Given the description of an element on the screen output the (x, y) to click on. 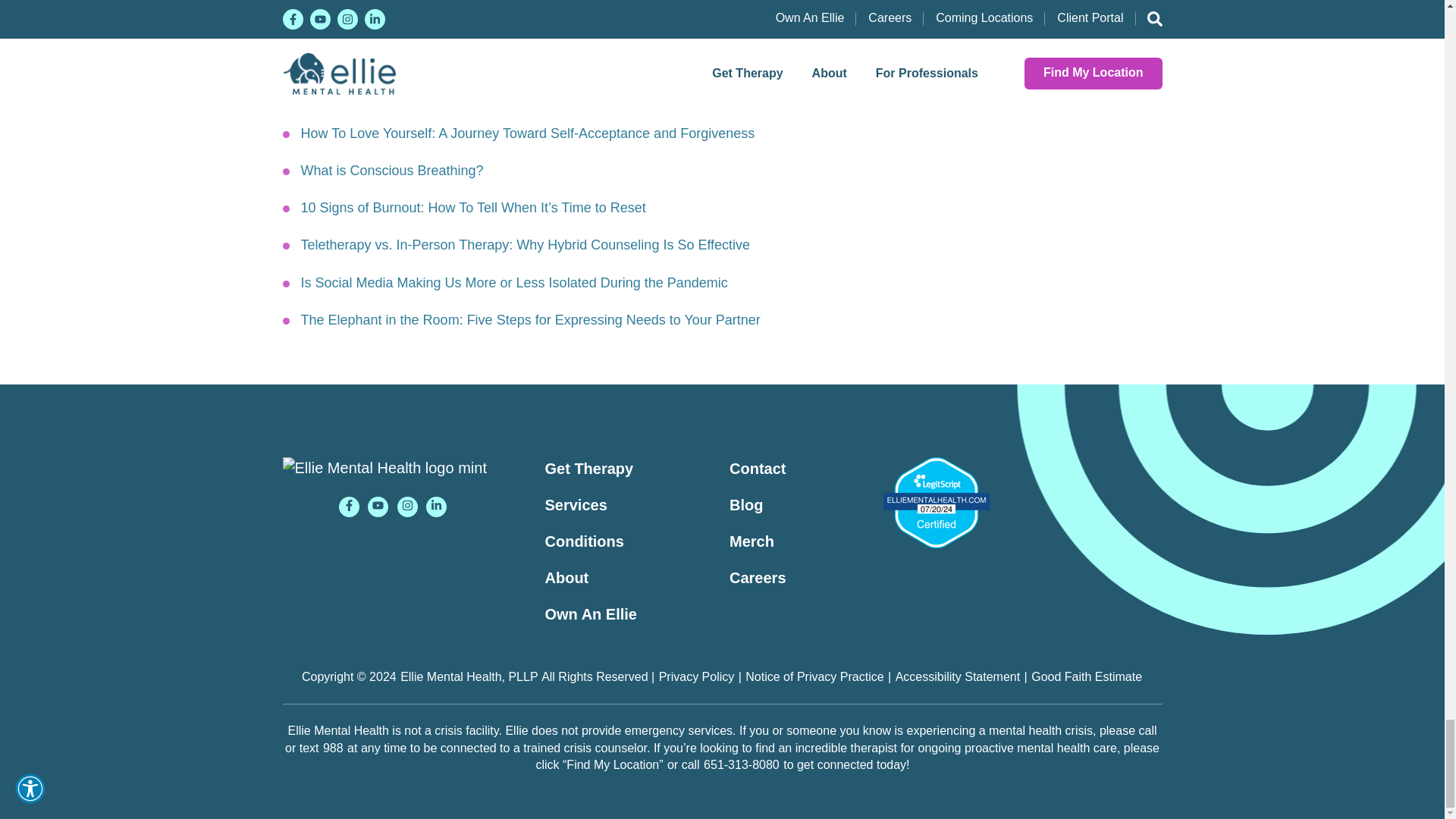
Verify LegitScript Approval (935, 502)
